Given the description of an element on the screen output the (x, y) to click on. 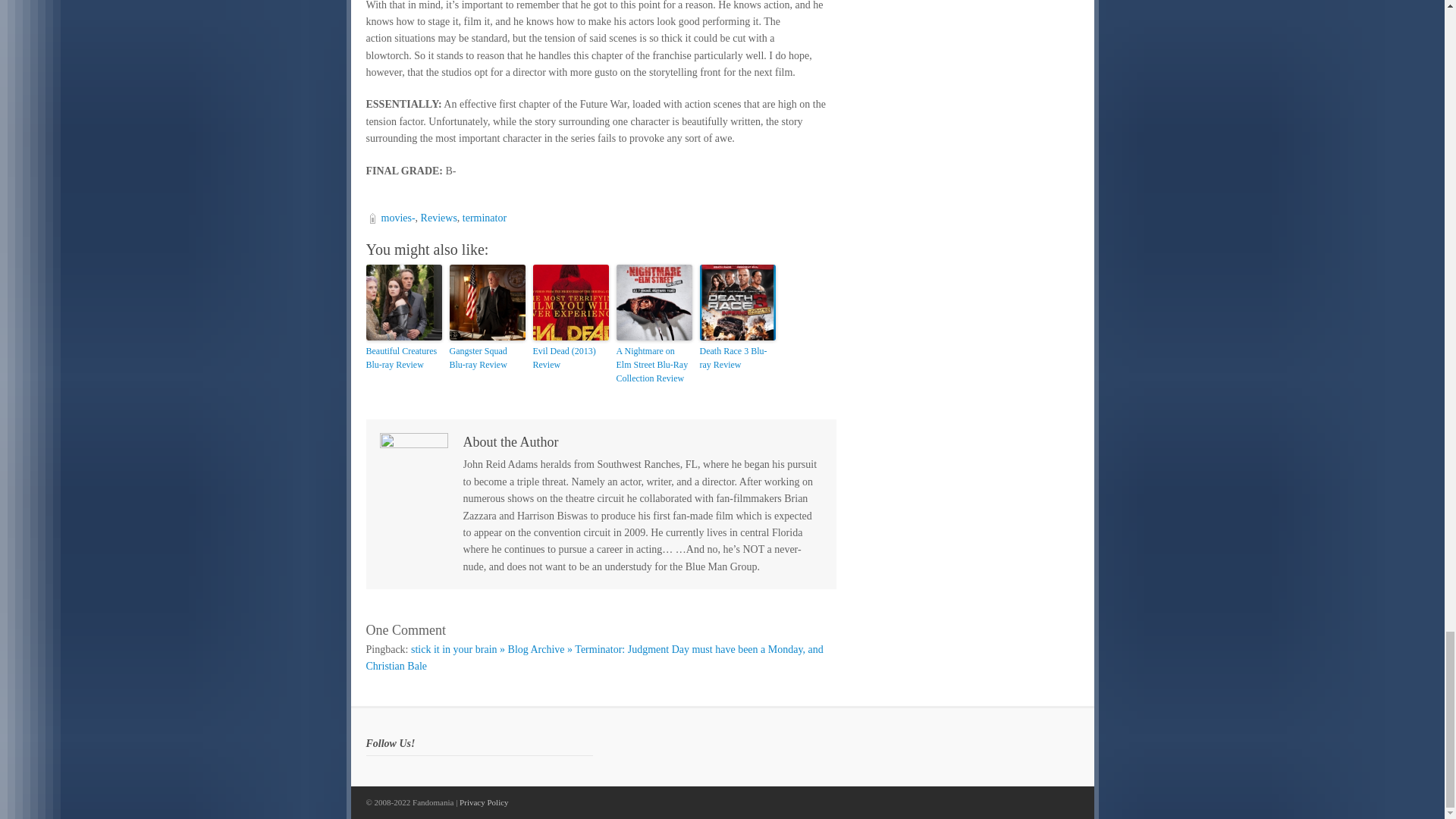
Gangster Squad Blu-ray Review (486, 357)
A Nightmare on Elm Street Blu-Ray Collection Review (653, 363)
terminator (484, 217)
Death Race 3 Blu-ray Review (736, 357)
Beautiful Creatures Blu-ray Review (403, 357)
Reviews (438, 217)
movies- (397, 217)
